Given the description of an element on the screen output the (x, y) to click on. 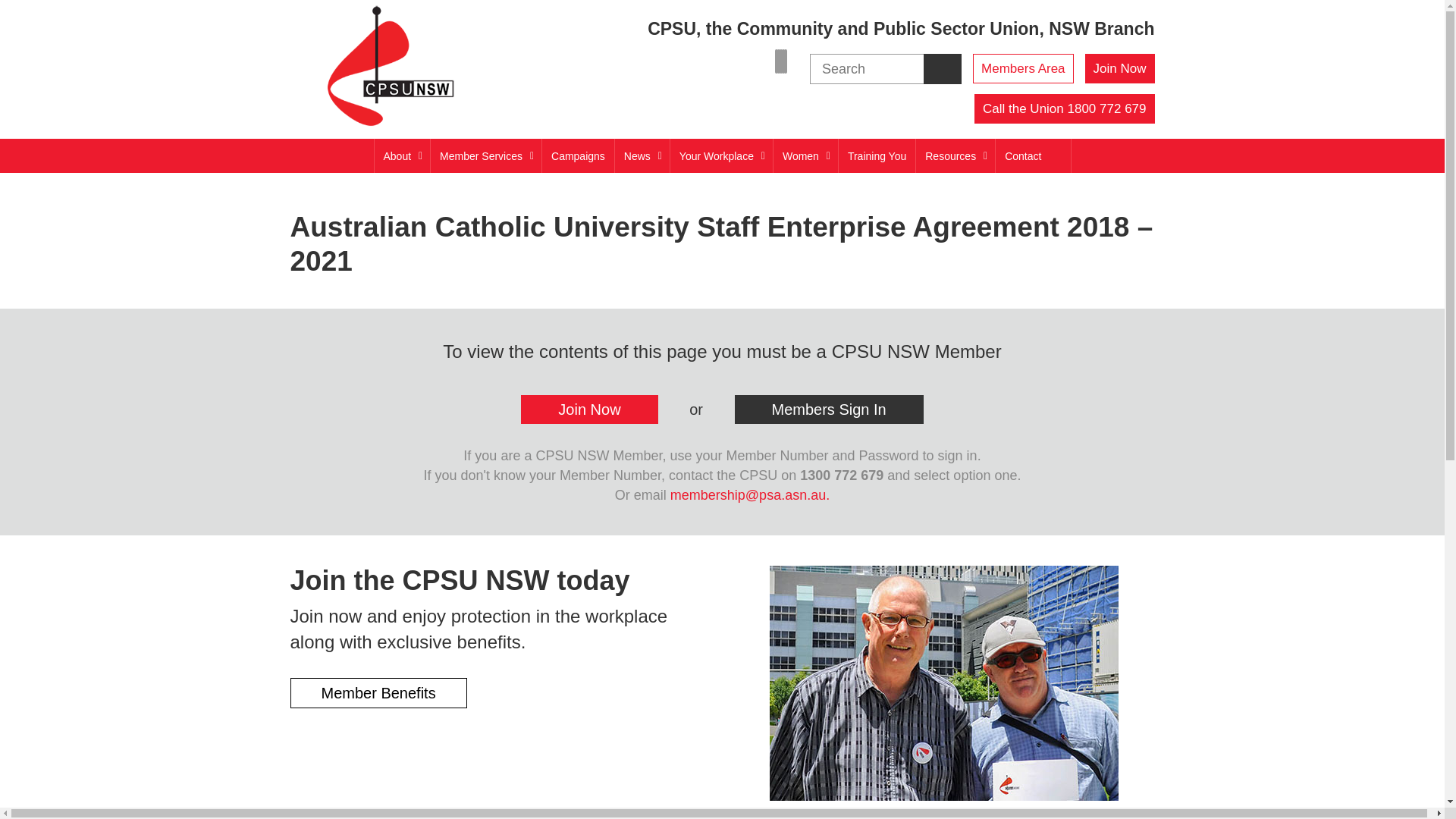
Women Element type: text (804, 155)
About Element type: text (402, 155)
Join Now Element type: text (1119, 68)
Join Now Element type: text (588, 409)
Submit Element type: text (50, 13)
Call the Union 1800 772 679 Element type: text (1064, 108)
Contact Element type: text (1022, 155)
Training You Element type: text (876, 155)
Your Workplace Element type: text (720, 155)
Resources Element type: text (954, 155)
Member Benefits Element type: text (377, 692)
News Element type: text (641, 155)
Campaigns Element type: text (577, 155)
Members Sign In Element type: text (828, 409)
membership@psa.asn.au. Element type: text (749, 494)
Member Services Element type: text (485, 155)
Members Area Element type: text (1022, 68)
